Given the description of an element on the screen output the (x, y) to click on. 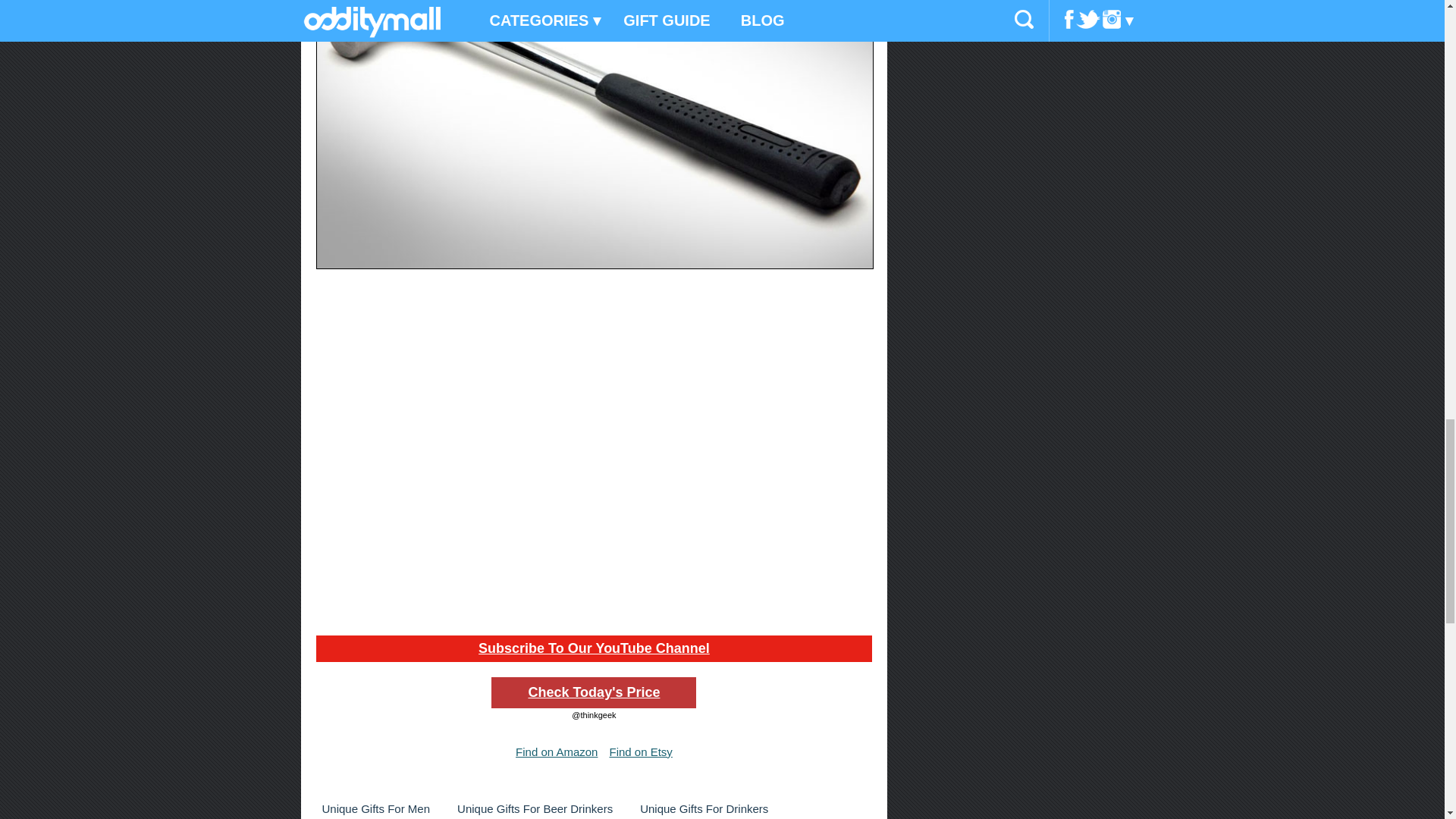
Unique Gifts For Drinkers (703, 808)
Find on Amazon (555, 751)
Unique Gifts For Beer Drinkers (534, 808)
Unique Gifts For Drinkers (703, 808)
Find on Etsy (639, 751)
Unique Gifts For Beer Drinkers (534, 808)
Check Today's Price (593, 692)
Unique Gifts For Men (375, 808)
Unique Gifts For Men (375, 808)
